Given the description of an element on the screen output the (x, y) to click on. 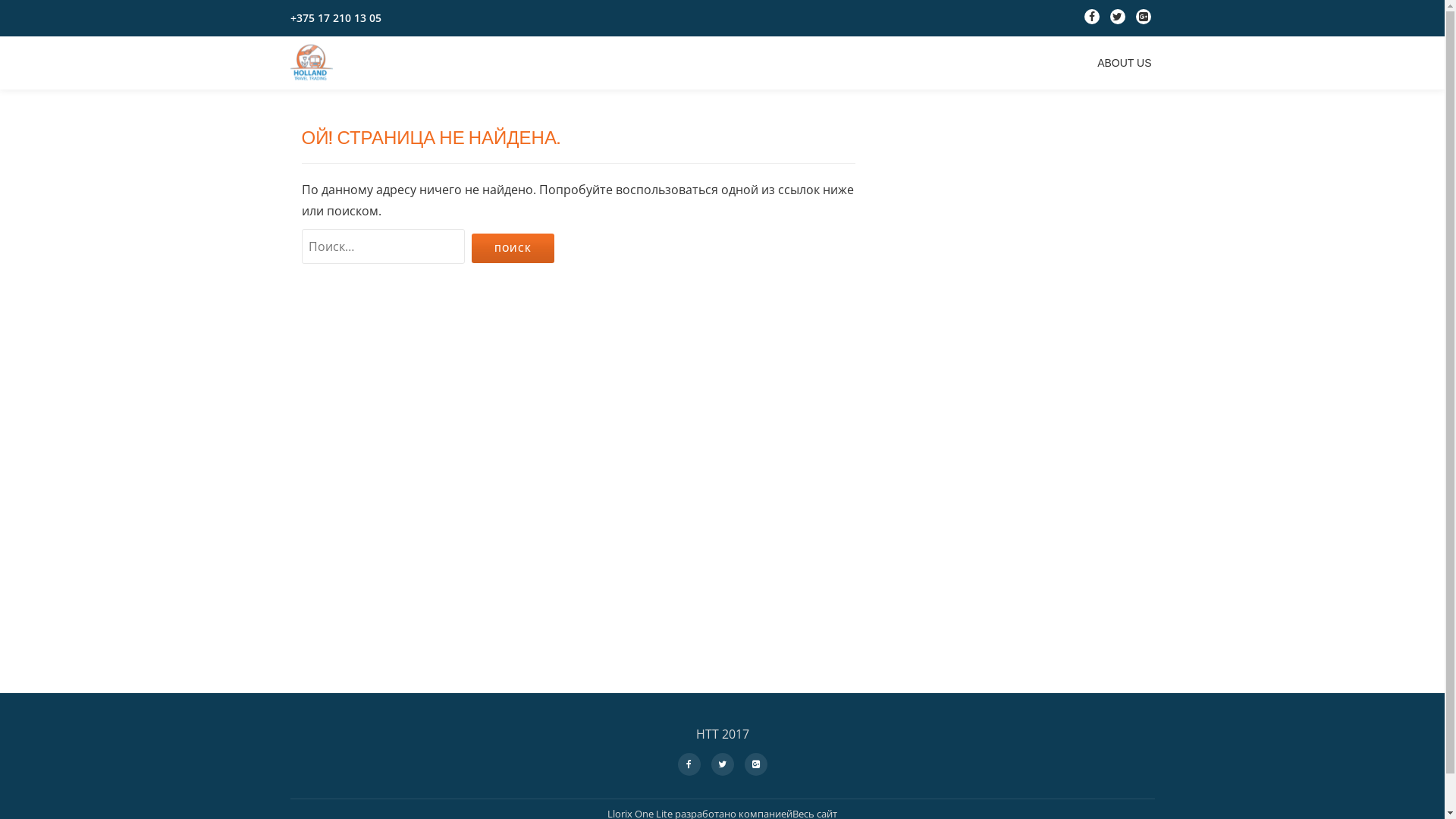
fa-google-plus-square Element type: text (1143, 19)
fa-facebook Element type: text (1091, 19)
fa-facebook Element type: text (688, 762)
Holland Travel Trading Element type: hover (313, 62)
ABOUT US Element type: text (1124, 62)
fa-twitter Element type: text (1117, 19)
fa-google-plus-square Element type: text (755, 762)
fa-twitter Element type: text (721, 762)
